Given the description of an element on the screen output the (x, y) to click on. 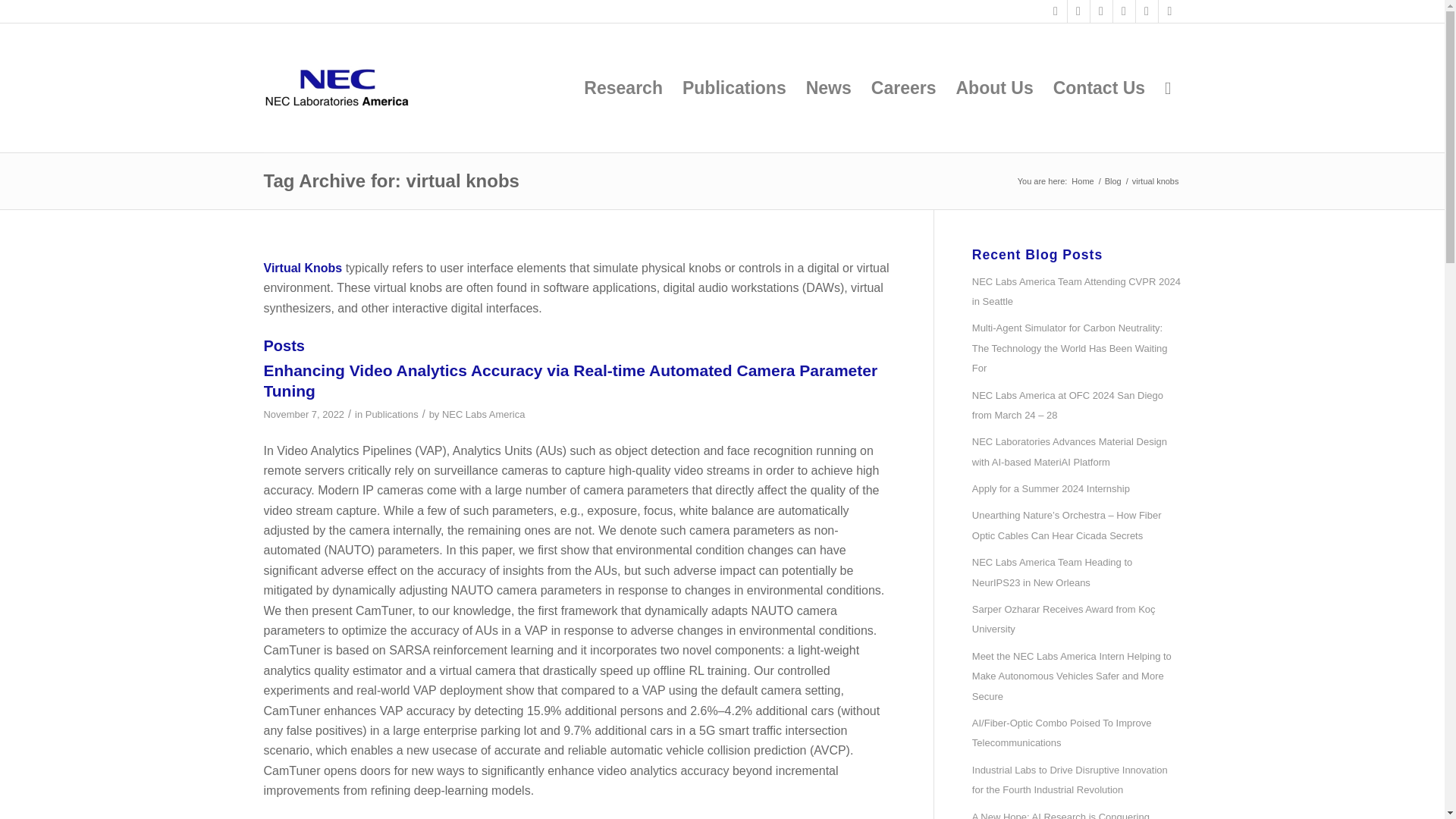
Publications (734, 87)
Home (1082, 181)
LinkedIn (1078, 11)
Twitter (1056, 11)
Instagram (1146, 11)
Publications (392, 414)
Tag Archive for: virtual knobs (391, 180)
Blog (1113, 181)
Permanent Link: Tag Archive for: virtual knobs (391, 180)
NEC Labs America (1082, 181)
Blog (1113, 181)
Posts by NEC Labs America (483, 414)
Rss (1169, 11)
